Given the description of an element on the screen output the (x, y) to click on. 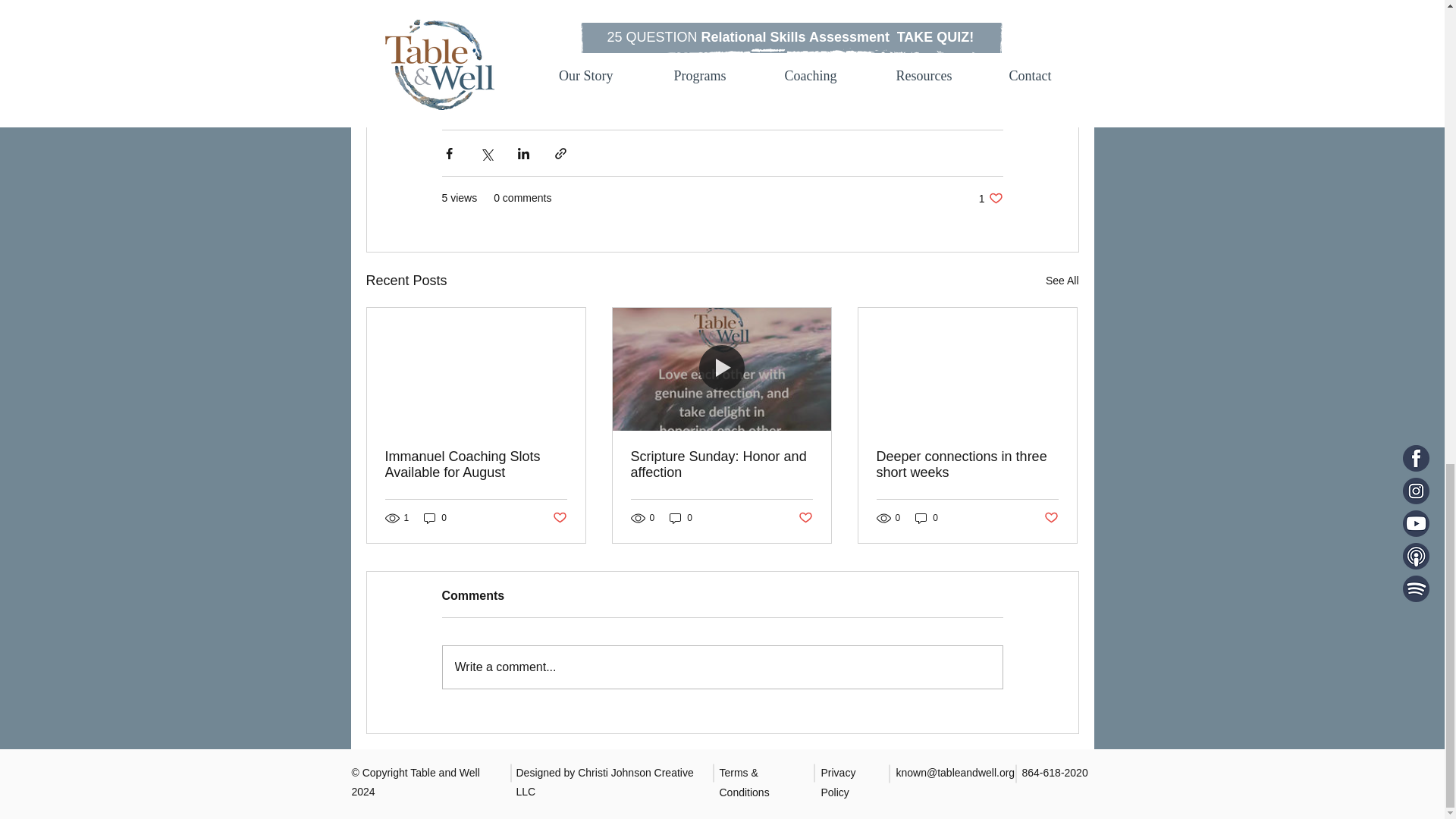
See All (1061, 280)
Post not marked as liked (558, 518)
Scripture Sunday: Honor and affection (721, 464)
Deeper connections in three short weeks (967, 464)
Immanuel Coaching Slots Available for August (476, 464)
Post not marked as liked (804, 518)
0 (990, 197)
0 (435, 517)
